Given the description of an element on the screen output the (x, y) to click on. 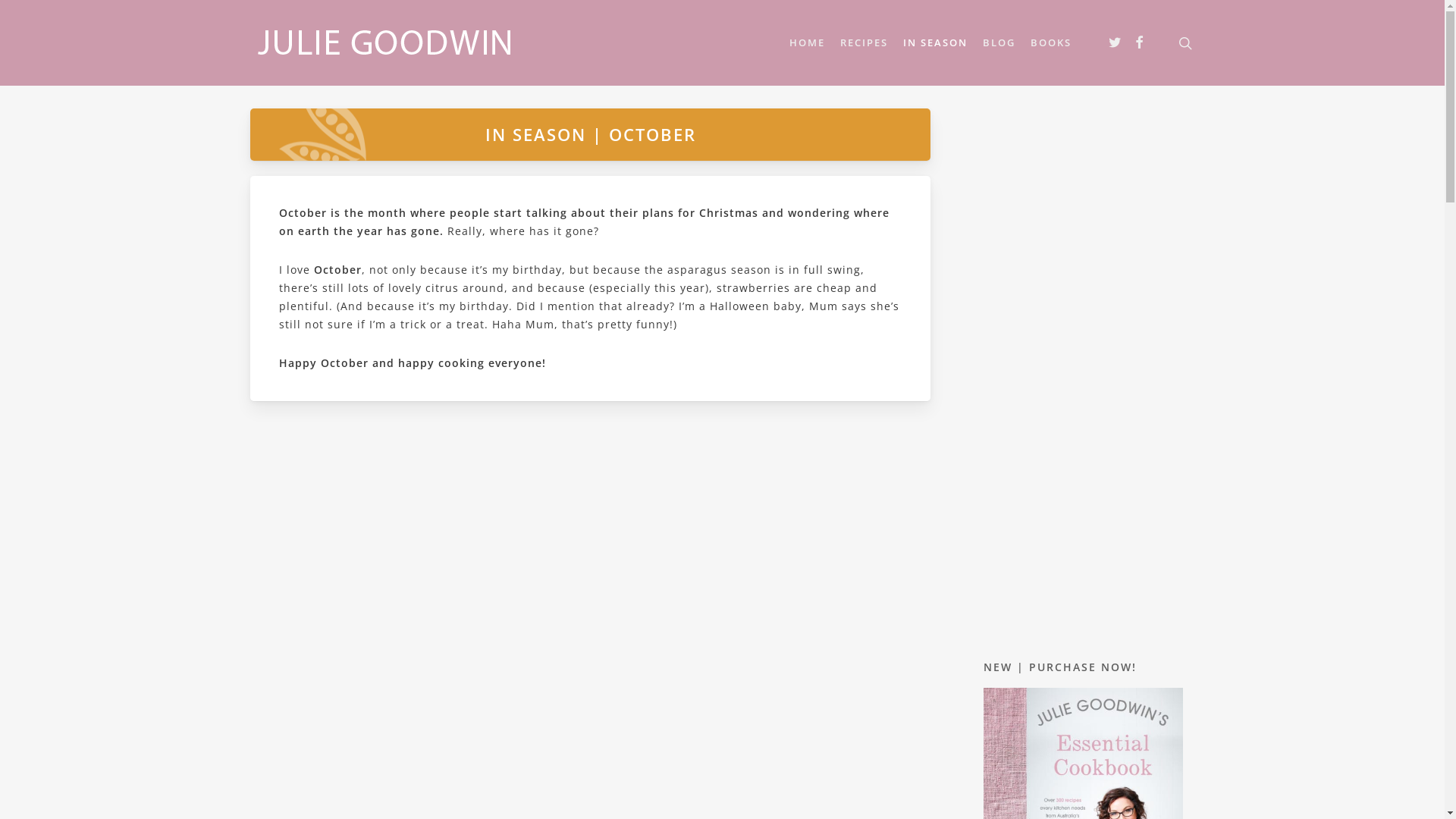
search Element type: text (1185, 42)
RECIPES Element type: text (863, 42)
TWITTER Element type: text (1115, 42)
Advertisement Element type: hover (1083, 371)
FACEBOOK Element type: text (1139, 42)
IN SEASON Element type: text (935, 42)
HOME Element type: text (806, 42)
BLOG Element type: text (998, 42)
BOOKS Element type: text (1050, 42)
